Given the description of an element on the screen output the (x, y) to click on. 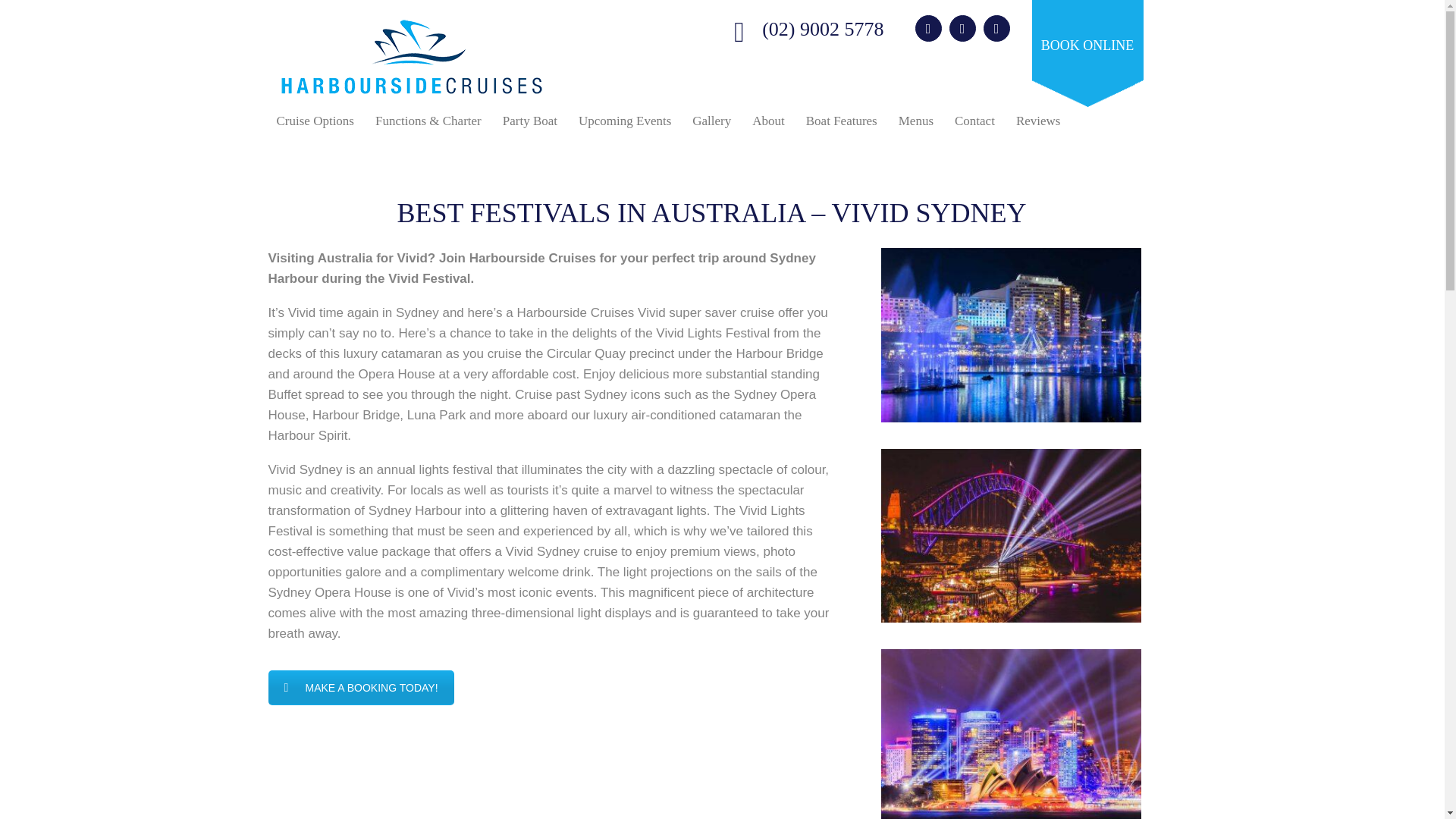
Gallery (711, 121)
Vivid Sydney Harbour Cruise 2022 (551, 787)
Experience Vivid Sydney 2022 by Harbour Cruise (1010, 335)
Upcoming Events (625, 121)
Harbourside Cruises (411, 56)
Cruise Options (315, 121)
Experience Vivid Sydney 2022 by Harbour Cruise (1010, 535)
Party Boat (530, 121)
BOOK ONLINE (1086, 53)
